Given the description of an element on the screen output the (x, y) to click on. 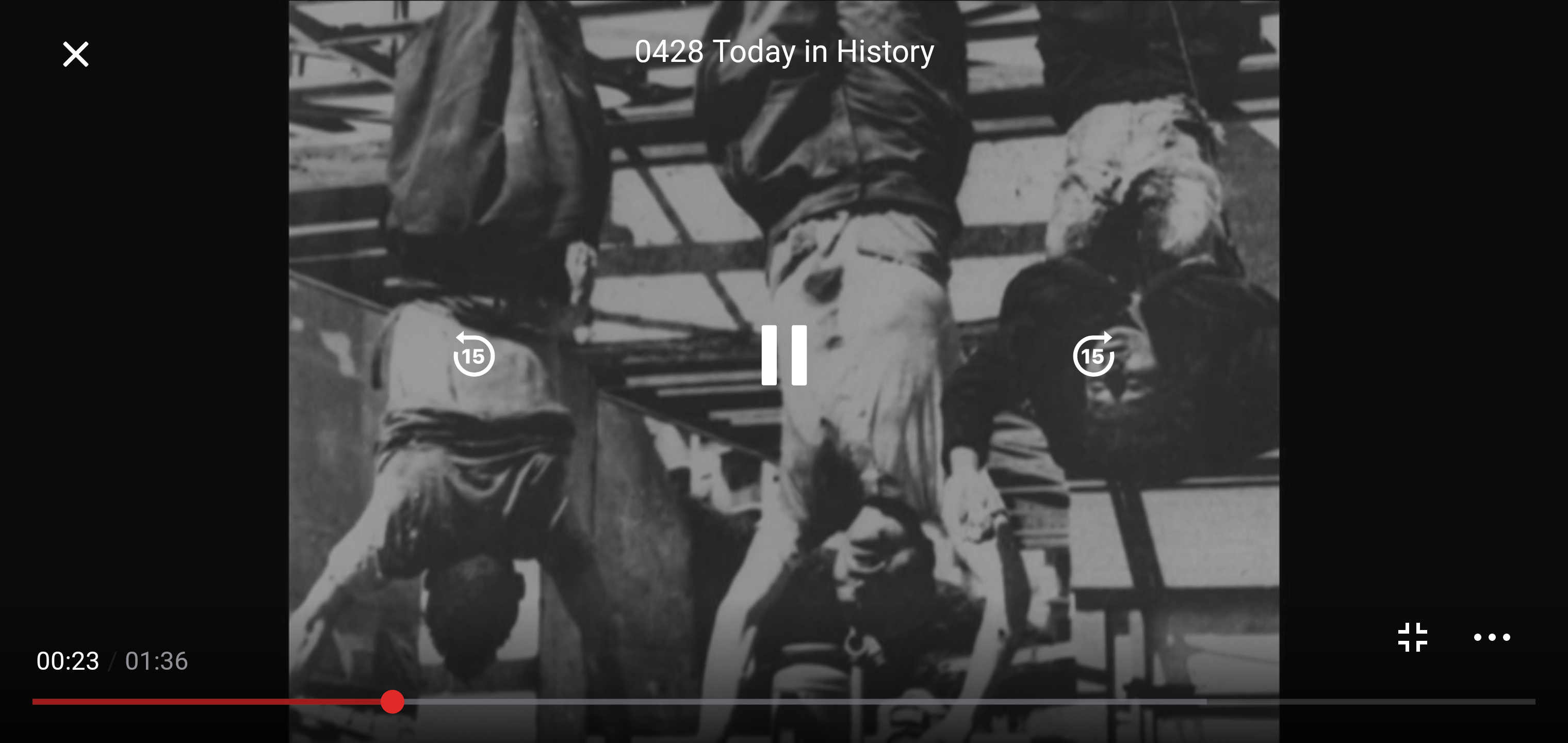
Exit Fullscreen (76, 53)
Rewind 15 seconds (474, 354)
Pause (783, 354)
fast forward 15 seconds (1093, 354)
Exit Fullscreen (1412, 636)
menu (1491, 636)
